Given the description of an element on the screen output the (x, y) to click on. 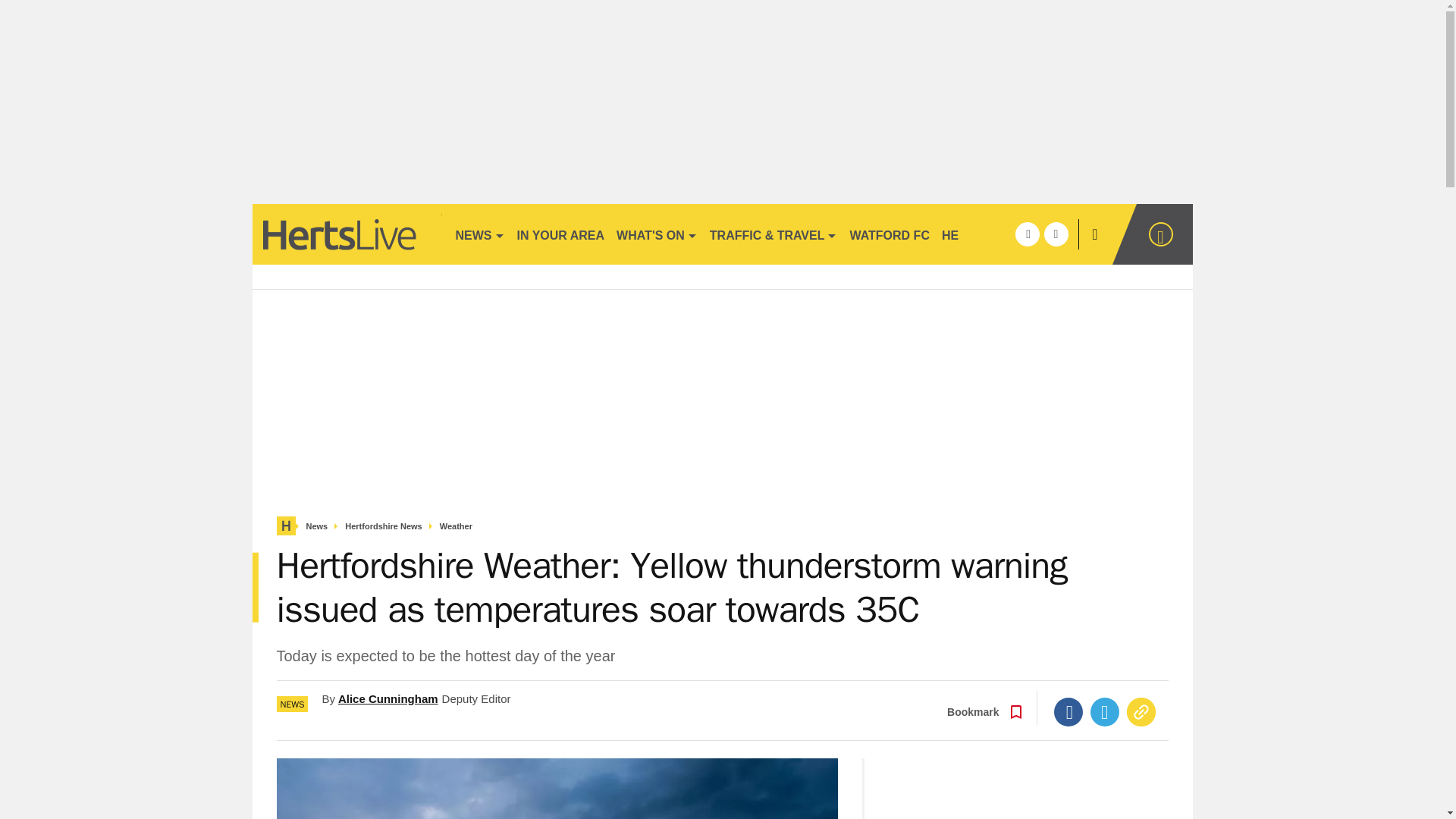
twitter (1055, 233)
Twitter (1104, 711)
WHAT'S ON (656, 233)
WATFORD FC (888, 233)
NEWS (479, 233)
HEMEL HEMPSTEAD (1003, 233)
facebook (1026, 233)
Facebook (1068, 711)
IN YOUR AREA (561, 233)
hertfordshiremercury (346, 233)
